Given the description of an element on the screen output the (x, y) to click on. 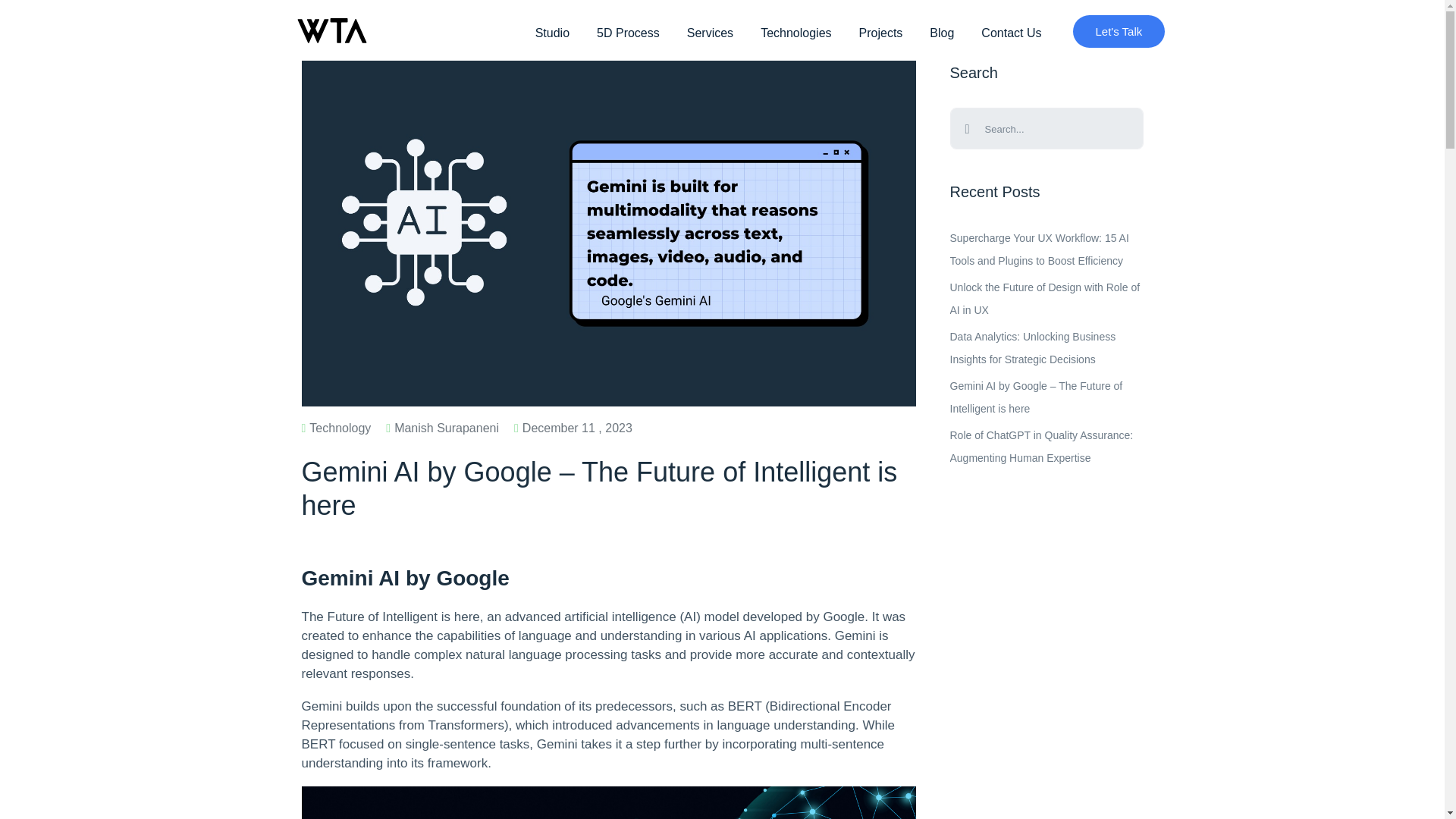
Studio (552, 32)
Services (710, 32)
Contact Us (1010, 32)
Blog (941, 32)
5D Process (628, 32)
Projects (880, 32)
Technology (336, 427)
Unlock the Future of Design with Role of AI in UX (1045, 298)
Contact Us (1010, 32)
Projects (880, 32)
